Given the description of an element on the screen output the (x, y) to click on. 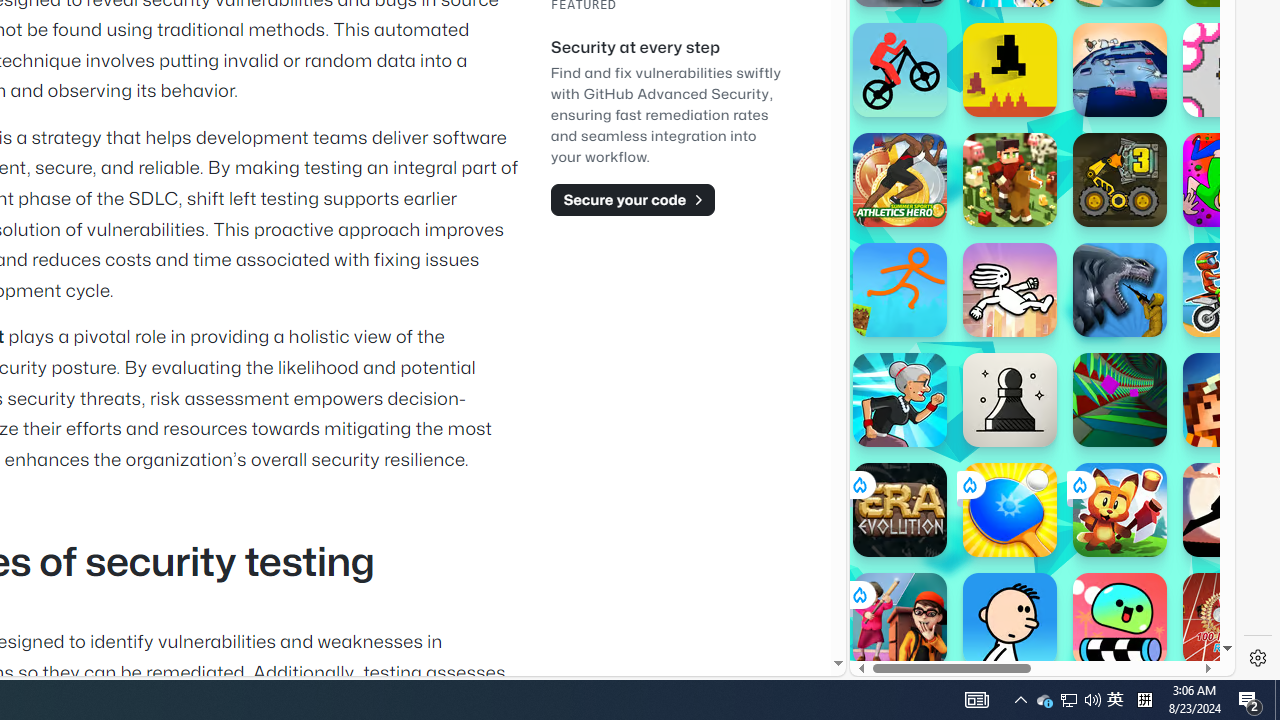
Ping Pong Go! Ping Pong Go! (1009, 509)
Tunnel Rush (1119, 399)
Stickman Parkour Skyland Stickman Parkour Skyland (899, 289)
Into the Pit Into the Pit (1229, 69)
Apple Knight: Farmers Market Apple Knight: Farmers Market (1009, 179)
Combat Reloaded Combat Reloaded poki.com (1092, 245)
Angry Gran Run Angry Gran Run (899, 399)
Big Tower Tiny Square Big Tower Tiny Square (1119, 69)
Global web icon (888, 607)
Moto X3M (1229, 289)
Blumgi Slime Blumgi Slime (1119, 619)
Level Devil (1009, 69)
Lurkers.io Lurkers.io (1229, 399)
Stickman Parkour Skyland (899, 289)
